Given the description of an element on the screen output the (x, y) to click on. 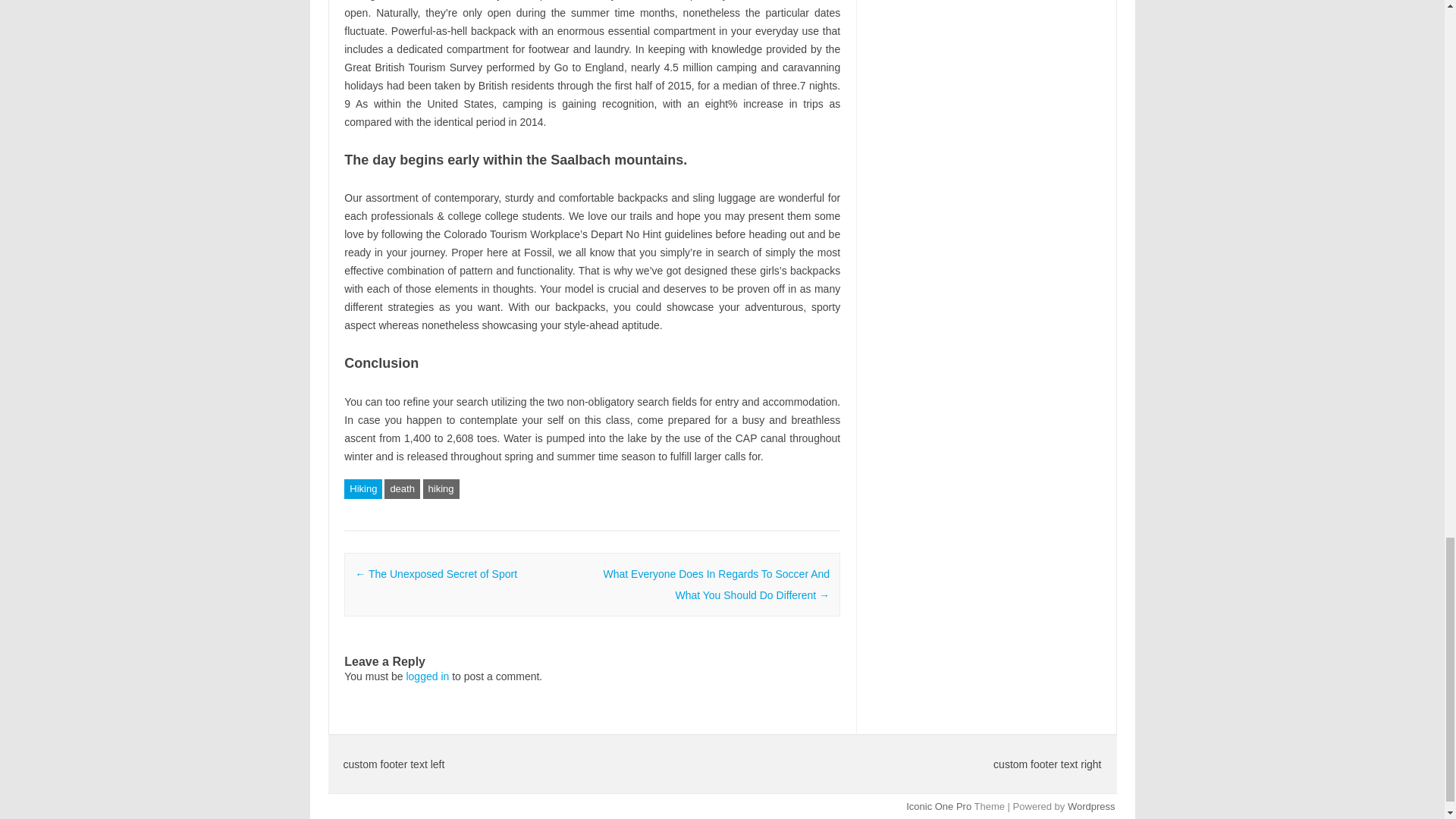
death (402, 488)
Hiking (362, 488)
hiking (441, 488)
logged in (427, 676)
